Given the description of an element on the screen output the (x, y) to click on. 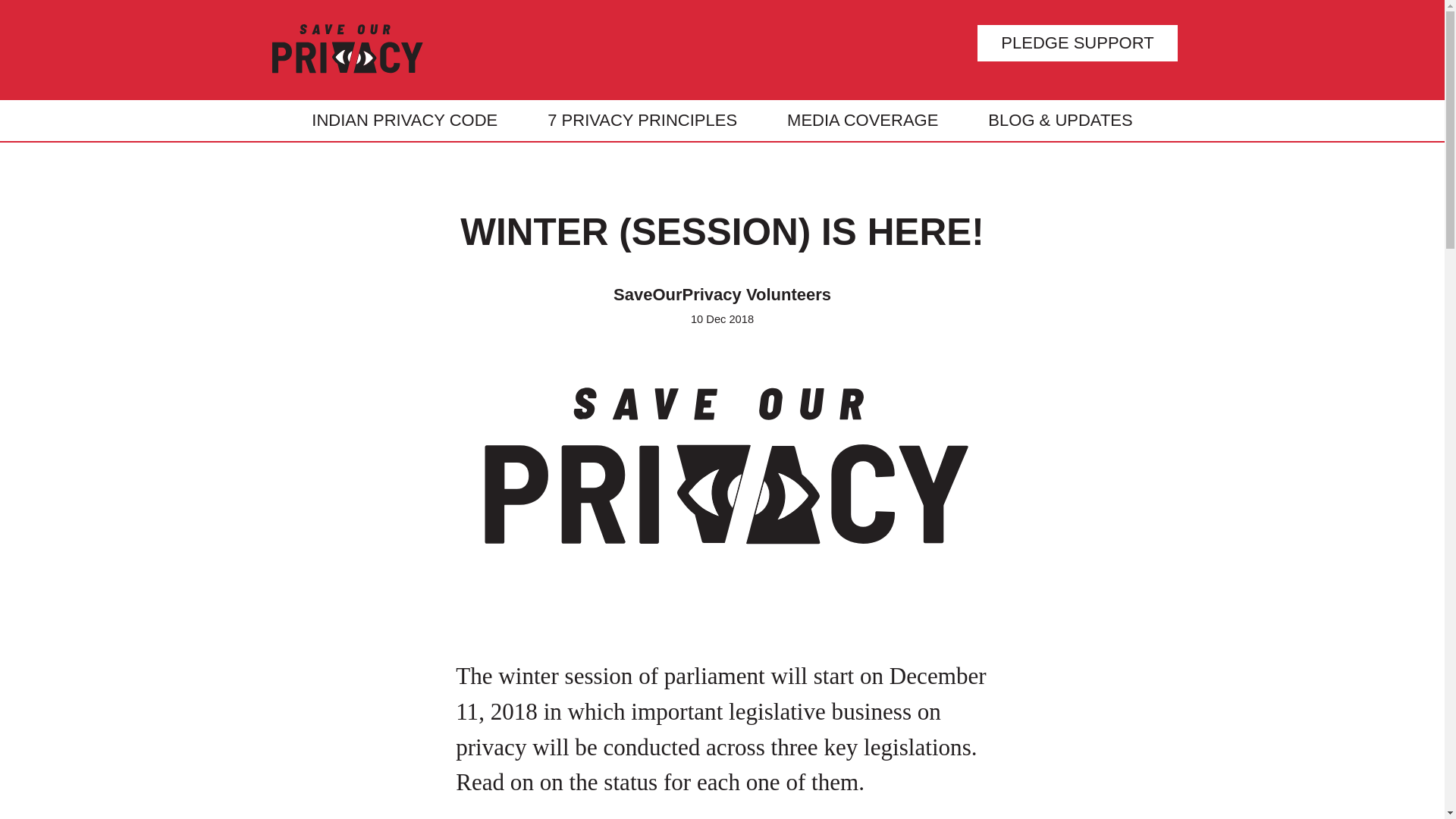
MEDIA COVERAGE (862, 119)
INDIAN PRIVACY CODE (404, 119)
More information about data protection and privacy (862, 119)
A model draft of the privacy law  (404, 119)
PLEDGE SUPPORT (1076, 43)
Campaign updates on SaveOurPrivacy.in (1060, 119)
7 PRIVACY PRINCIPLES (641, 119)
